Given the description of an element on the screen output the (x, y) to click on. 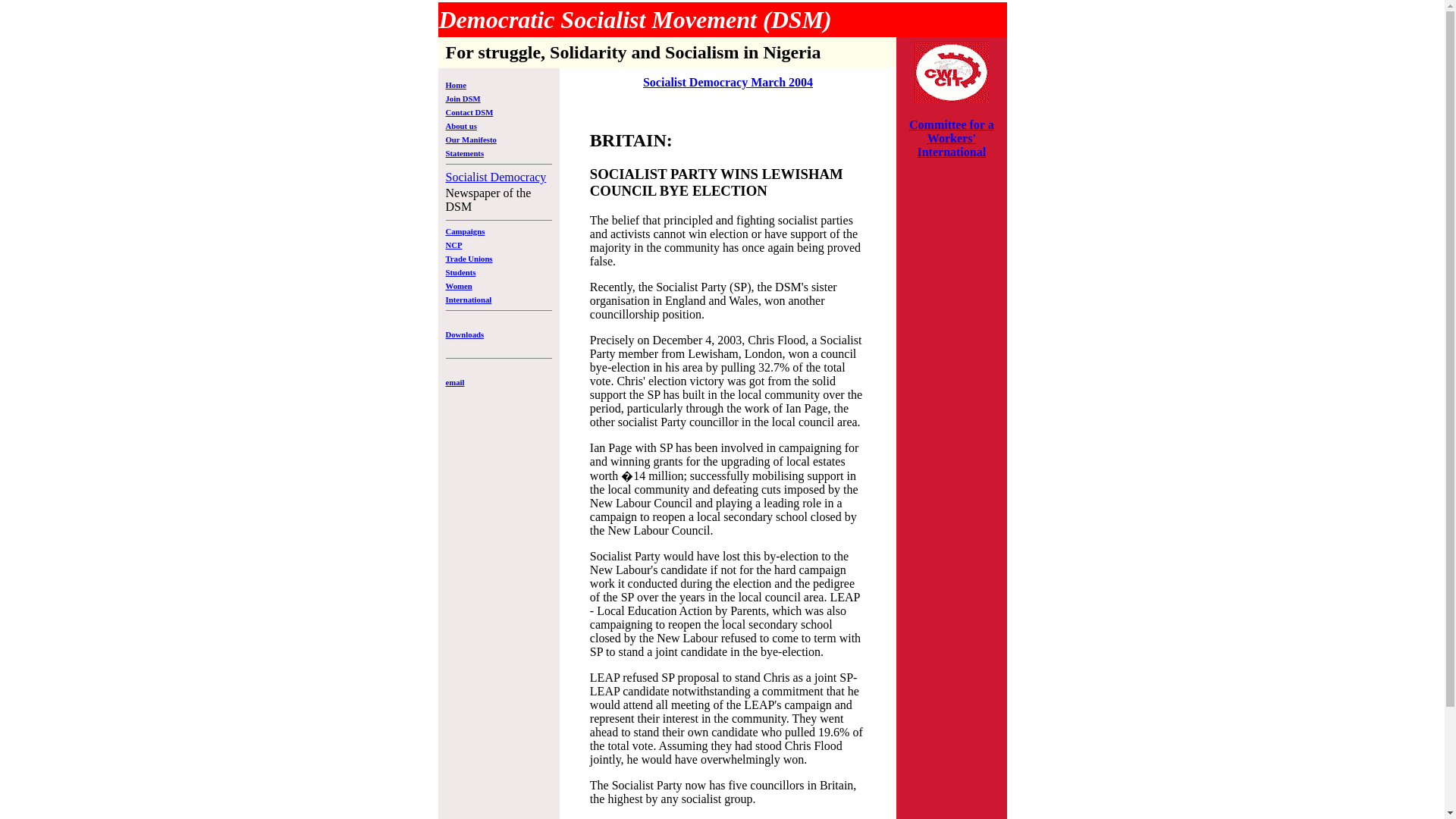
Contact DSM (469, 112)
Trade Unions (469, 257)
Statements (464, 153)
Downloads (464, 334)
Home (455, 84)
Our Manifesto (470, 139)
About us (461, 125)
email (454, 381)
International (468, 298)
Socialist Democracy (496, 176)
Campaigns (464, 230)
Committee for a Workers' International (951, 137)
NCP (454, 244)
Students (460, 271)
Socialist Democracy March 2004 (727, 82)
